Given the description of an element on the screen output the (x, y) to click on. 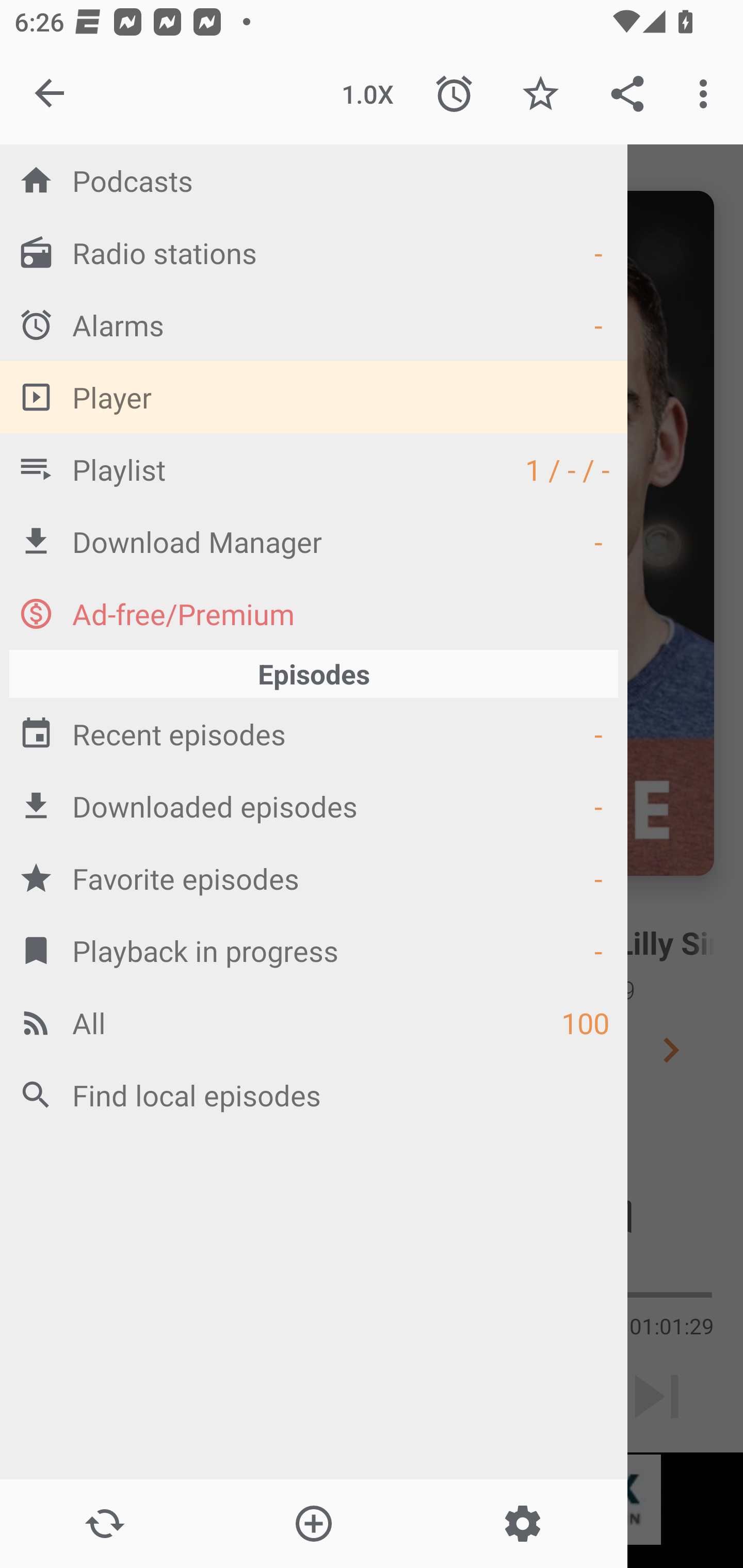
Close navigation sidebar (50, 93)
1.0X (366, 93)
Sleep Timer (453, 93)
Favorite (540, 93)
Share (626, 93)
More options (706, 93)
Podcasts (313, 180)
Radio stations  -  (313, 252)
Alarms  -  (313, 324)
Player (313, 396)
Playlist 1 / - / - (313, 468)
Download Manager  -  (313, 540)
Ad-free/Premium (313, 613)
Recent episodes  -  (313, 733)
Downloaded episodes  -  (313, 805)
Favorite episodes  -  (313, 878)
Playback in progress  -  (313, 950)
All 100 (313, 1022)
Find local episodes (313, 1094)
Update (104, 1523)
Add new Podcast (312, 1523)
Settings (522, 1523)
